Given the description of an element on the screen output the (x, y) to click on. 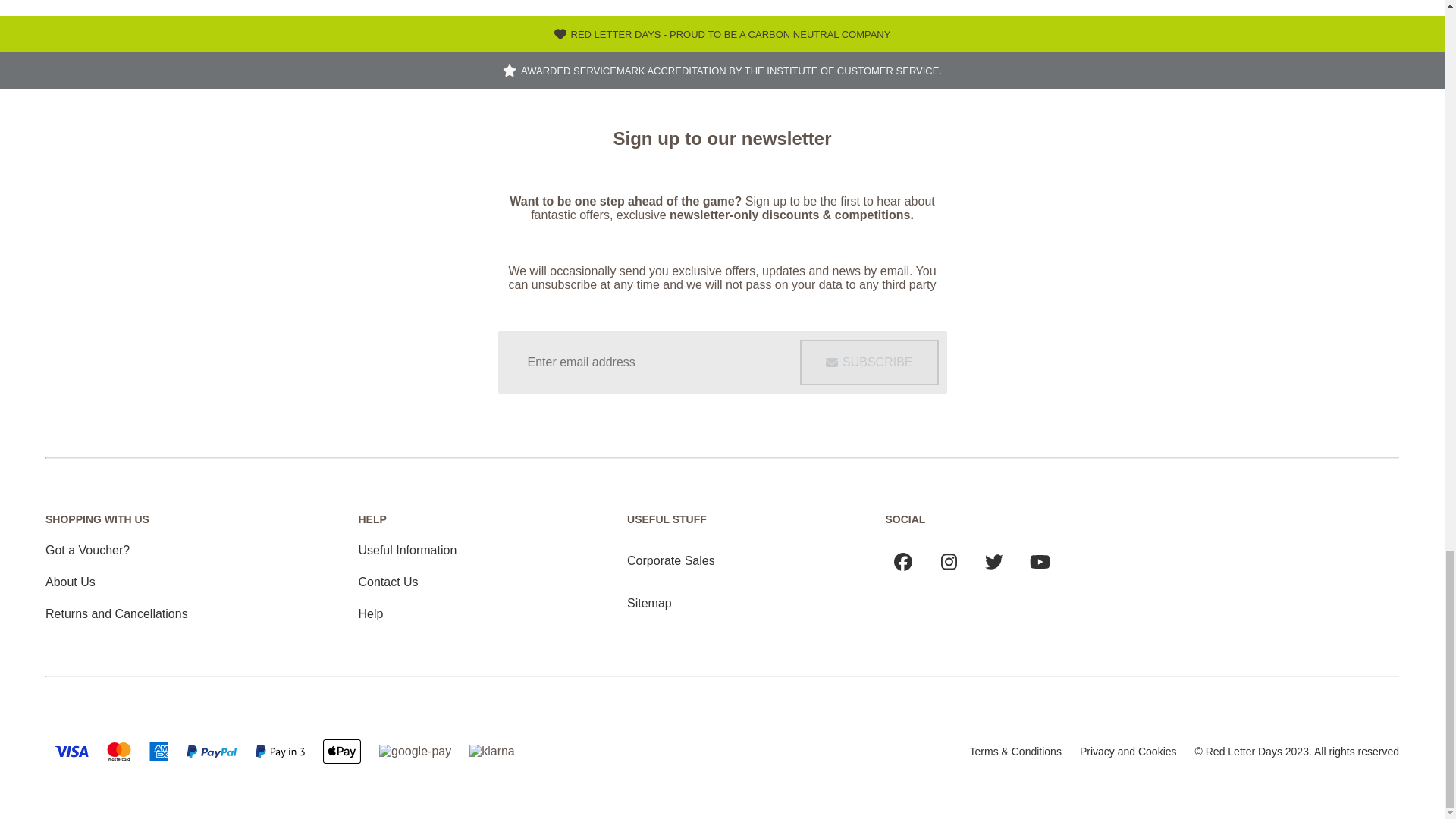
instagram (948, 561)
facebook (903, 561)
youtube (1040, 561)
twitter (993, 561)
